Given the description of an element on the screen output the (x, y) to click on. 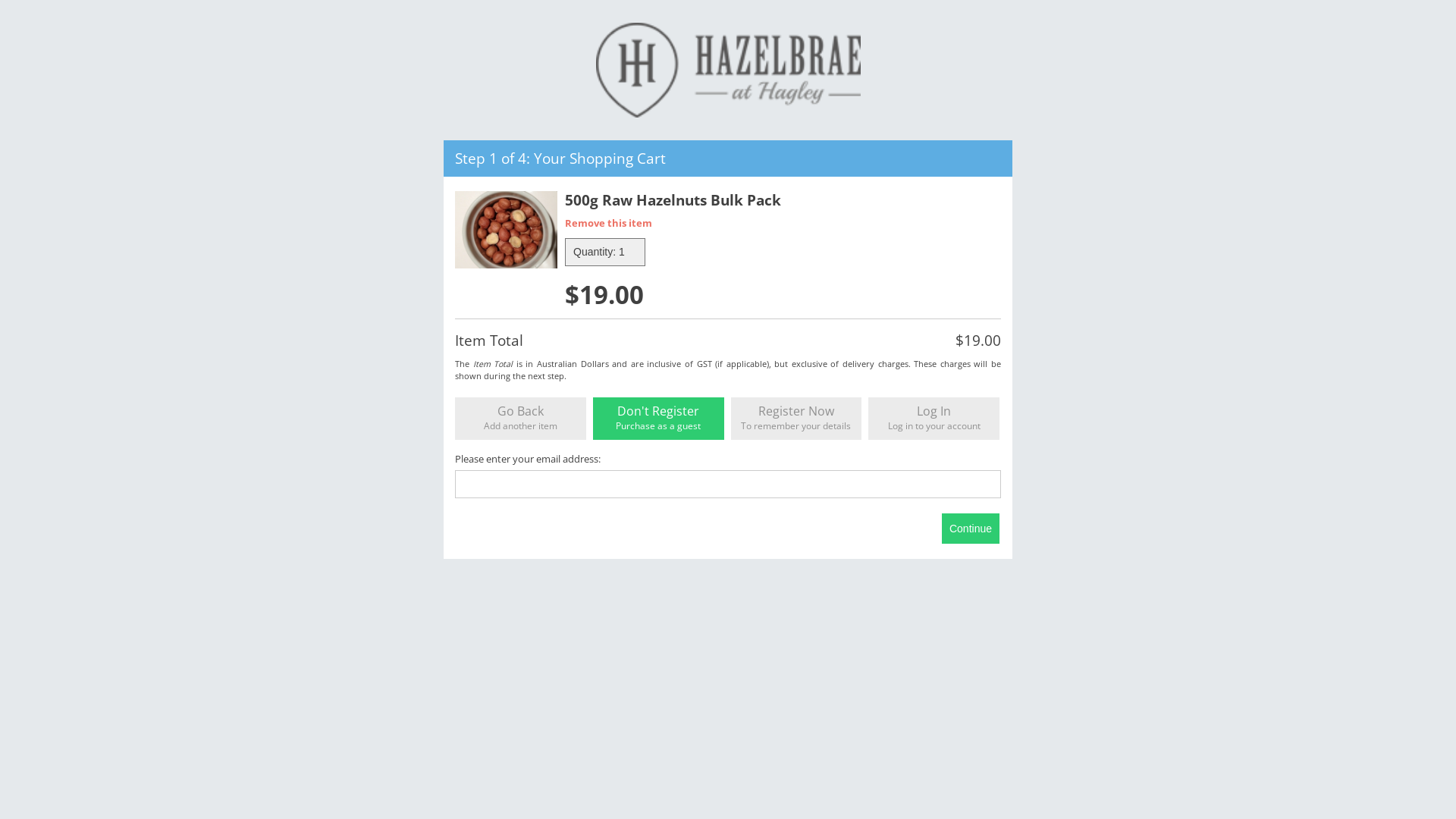
Don't Register
Purchase as a guest Element type: text (658, 418)
Go Back
Add another item Element type: text (520, 418)
Remove this item Element type: text (608, 222)
Log In
Log in to your account Element type: text (933, 418)
Continue Element type: text (970, 528)
Register Now
To remember your details Element type: text (796, 418)
